Given the description of an element on the screen output the (x, y) to click on. 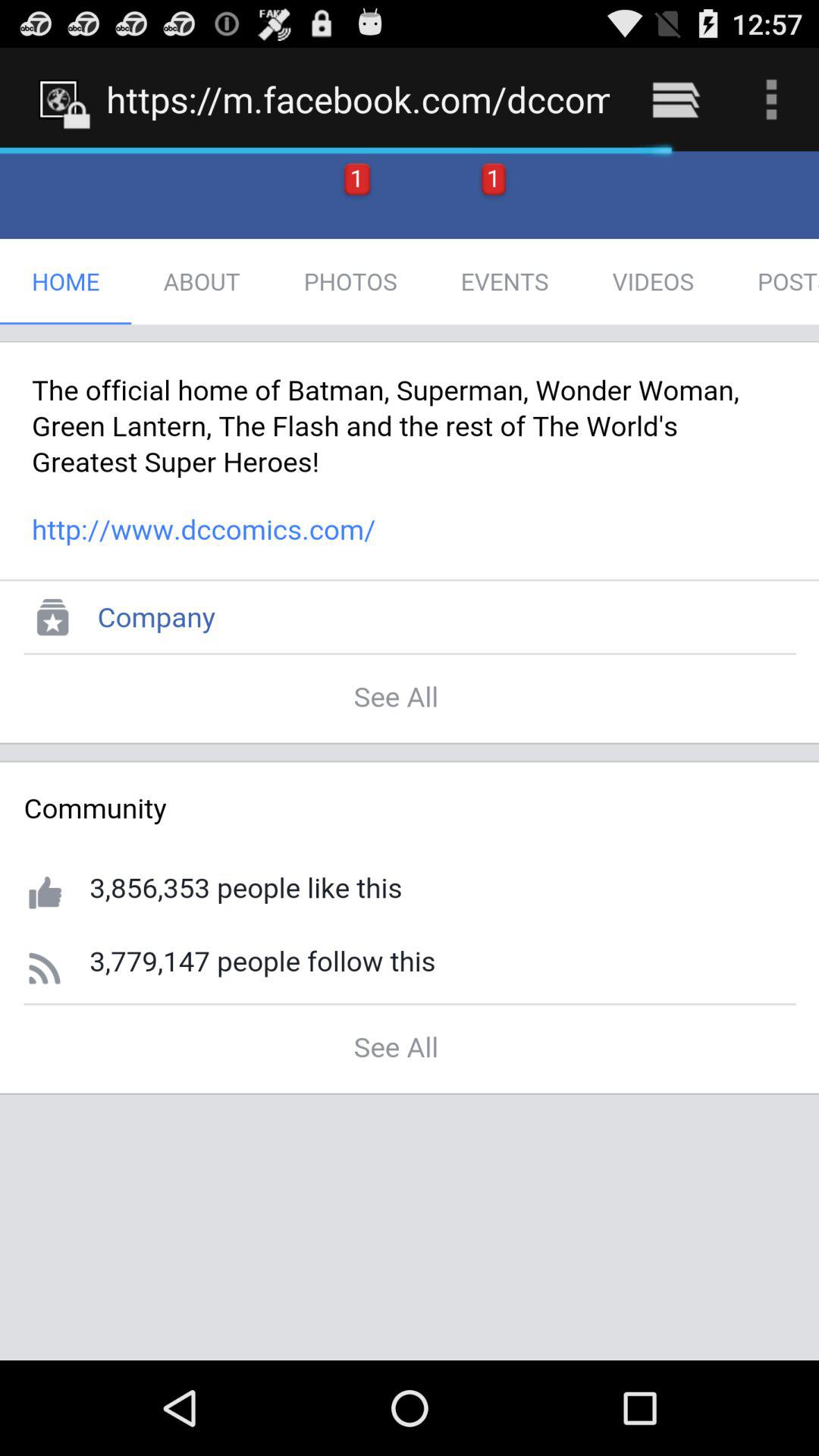
select the item below https m facebook (409, 755)
